Given the description of an element on the screen output the (x, y) to click on. 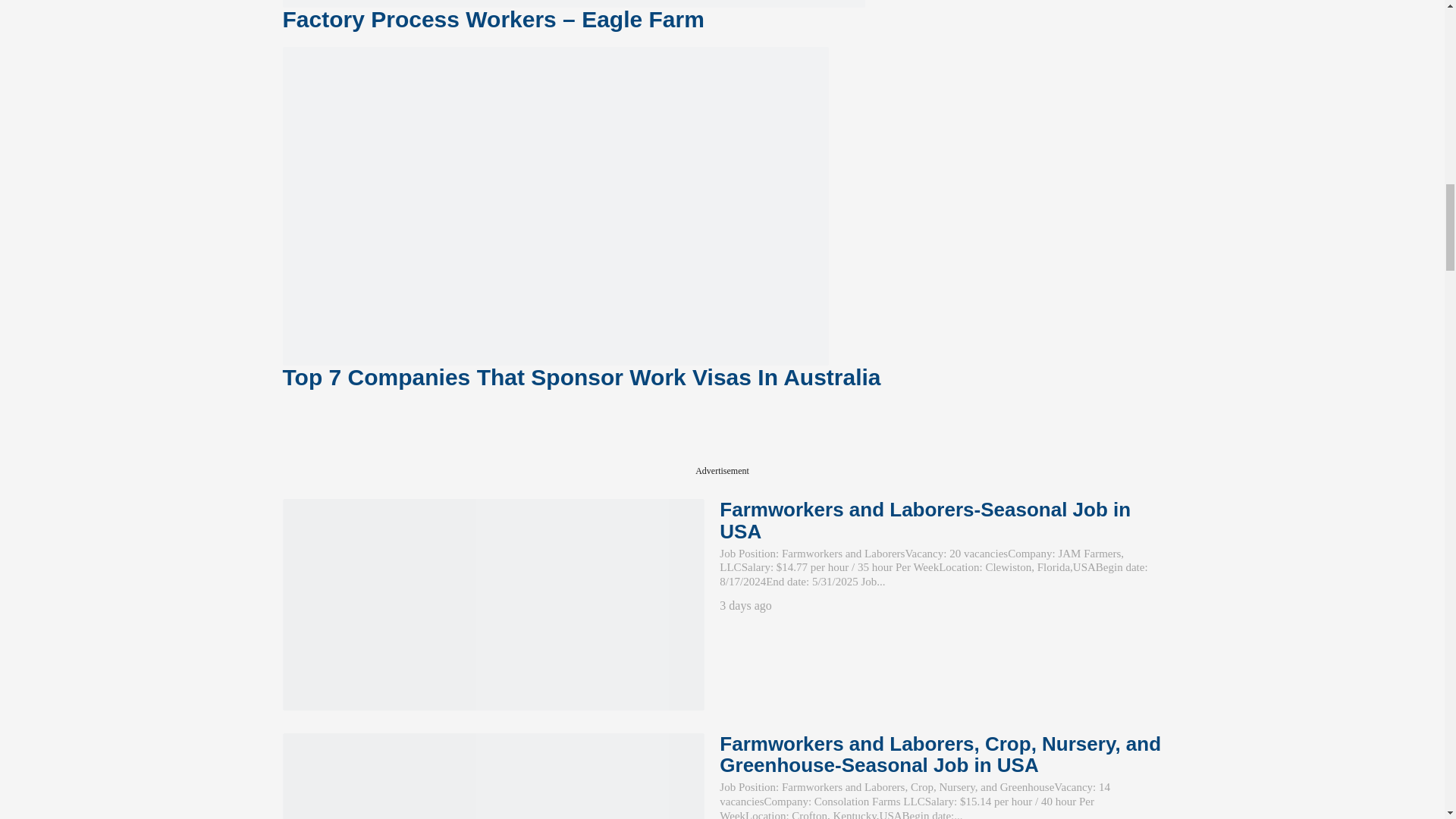
Farmworkers and Laborers-Seasonal Job in USA (493, 604)
